Given the description of an element on the screen output the (x, y) to click on. 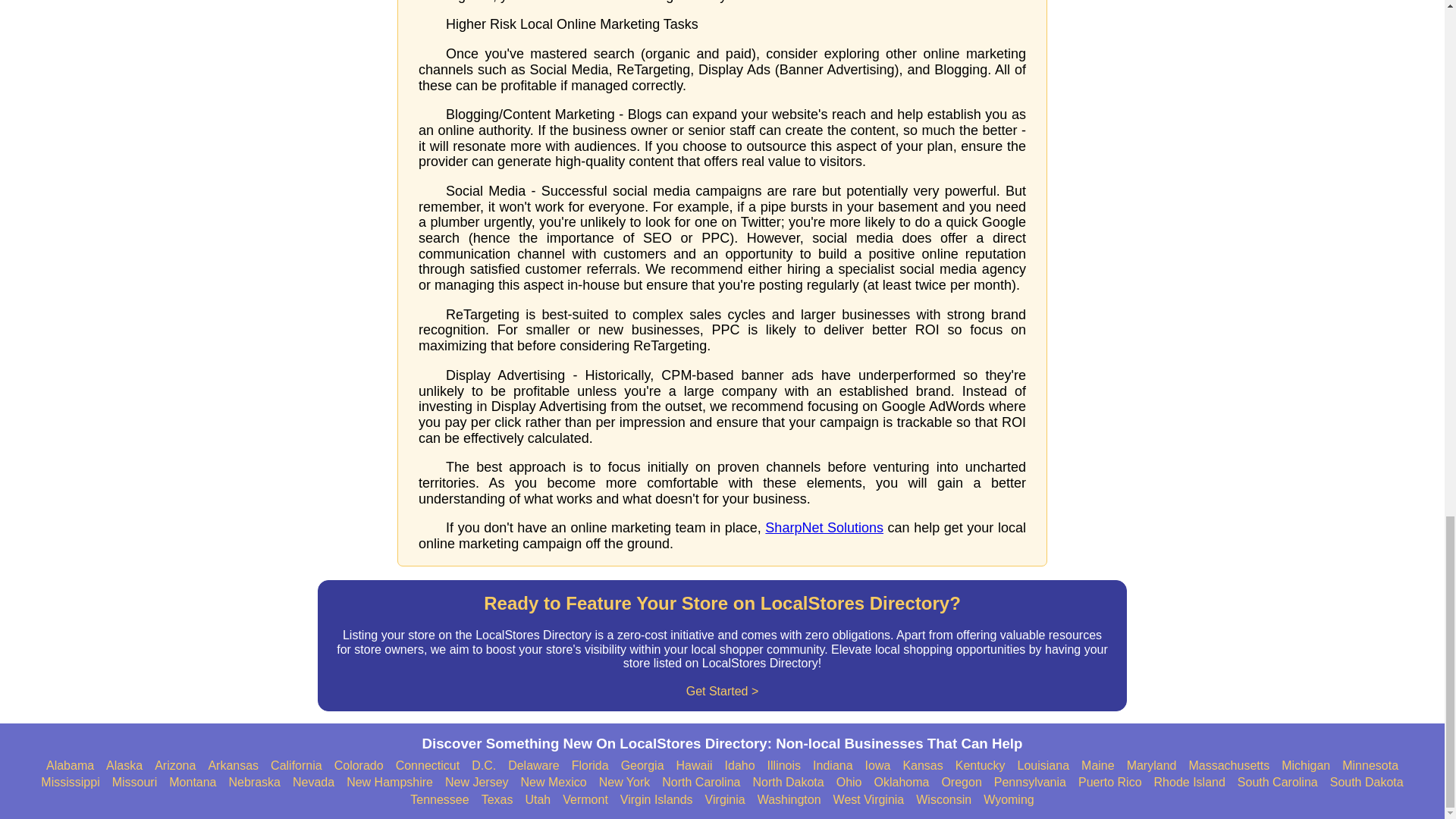
Florida (590, 766)
D.C. (483, 766)
Find Businesses in Florida (590, 766)
Find Businesses in Georgia (642, 766)
Find Businesses in Arkansas (233, 766)
Iowa (877, 766)
Arkansas (233, 766)
Montana (191, 782)
Feature Your Store on LocalStores Directory (721, 645)
Nebraska (254, 782)
Mississippi (69, 782)
Find Businesses in Hawaii (695, 766)
Find Businesses in Idaho (740, 766)
Idaho (740, 766)
Find Businesses in Arizona (174, 766)
